Given the description of an element on the screen output the (x, y) to click on. 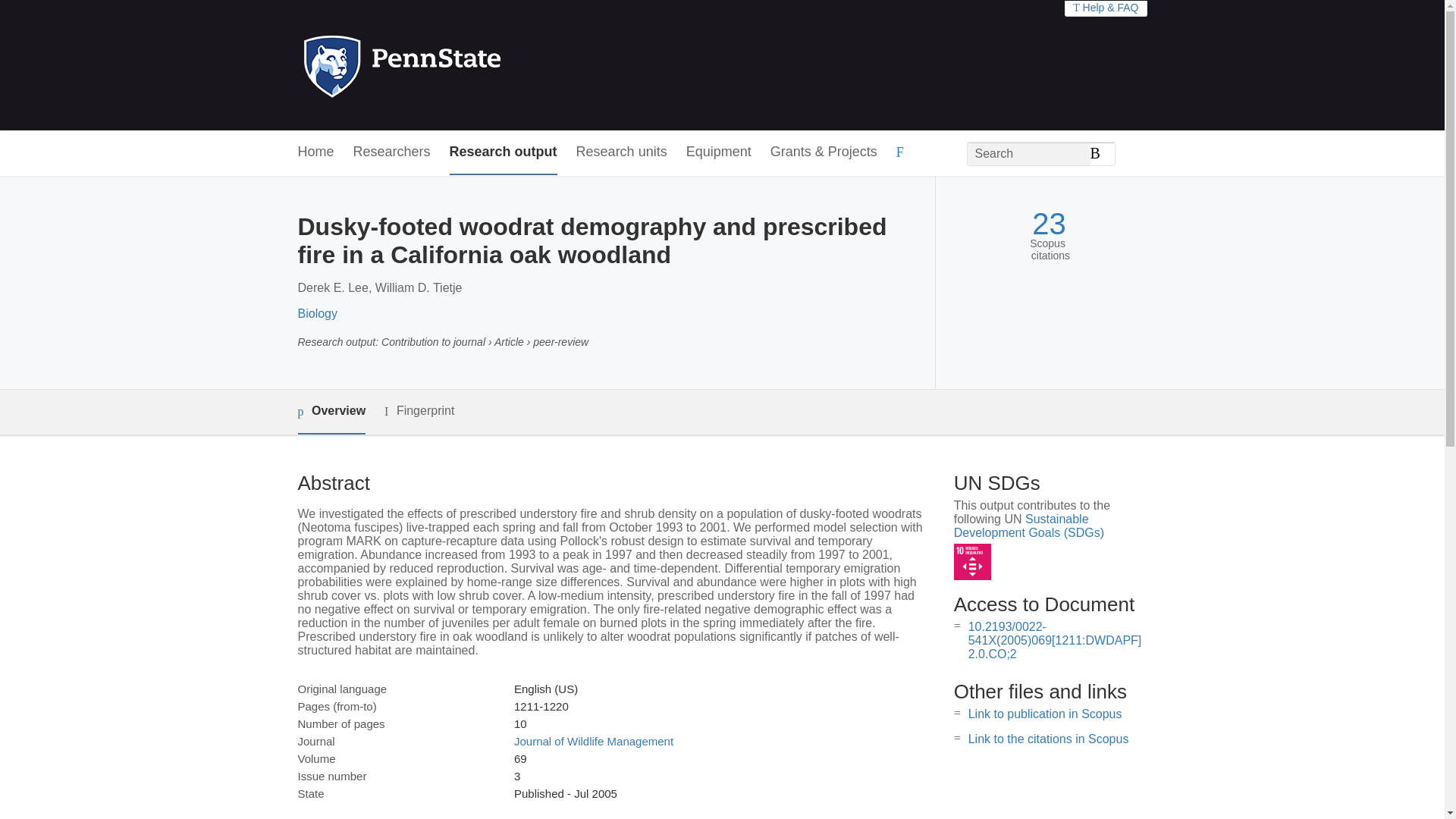
SDG 10 - Reduced Inequalities (972, 561)
Biology (316, 313)
Equipment (718, 152)
Penn State Home (467, 65)
23 (1048, 223)
Fingerprint (419, 411)
Journal of Wildlife Management (592, 740)
Overview (331, 411)
Link to the citations in Scopus (1048, 738)
